Given the description of an element on the screen output the (x, y) to click on. 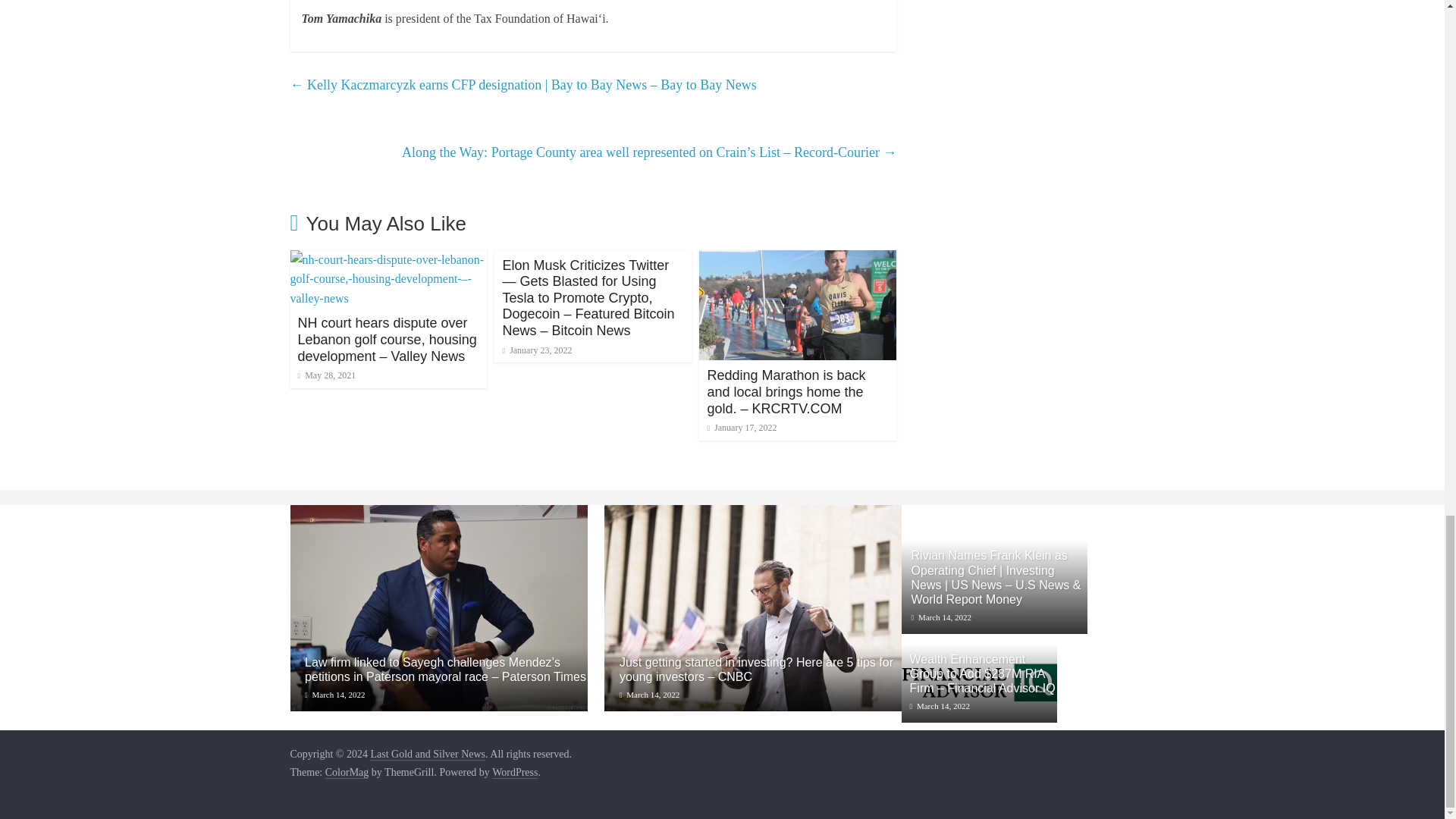
May 28, 2021 (326, 375)
January 17, 2022 (741, 427)
January 23, 2022 (537, 348)
